Given the description of an element on the screen output the (x, y) to click on. 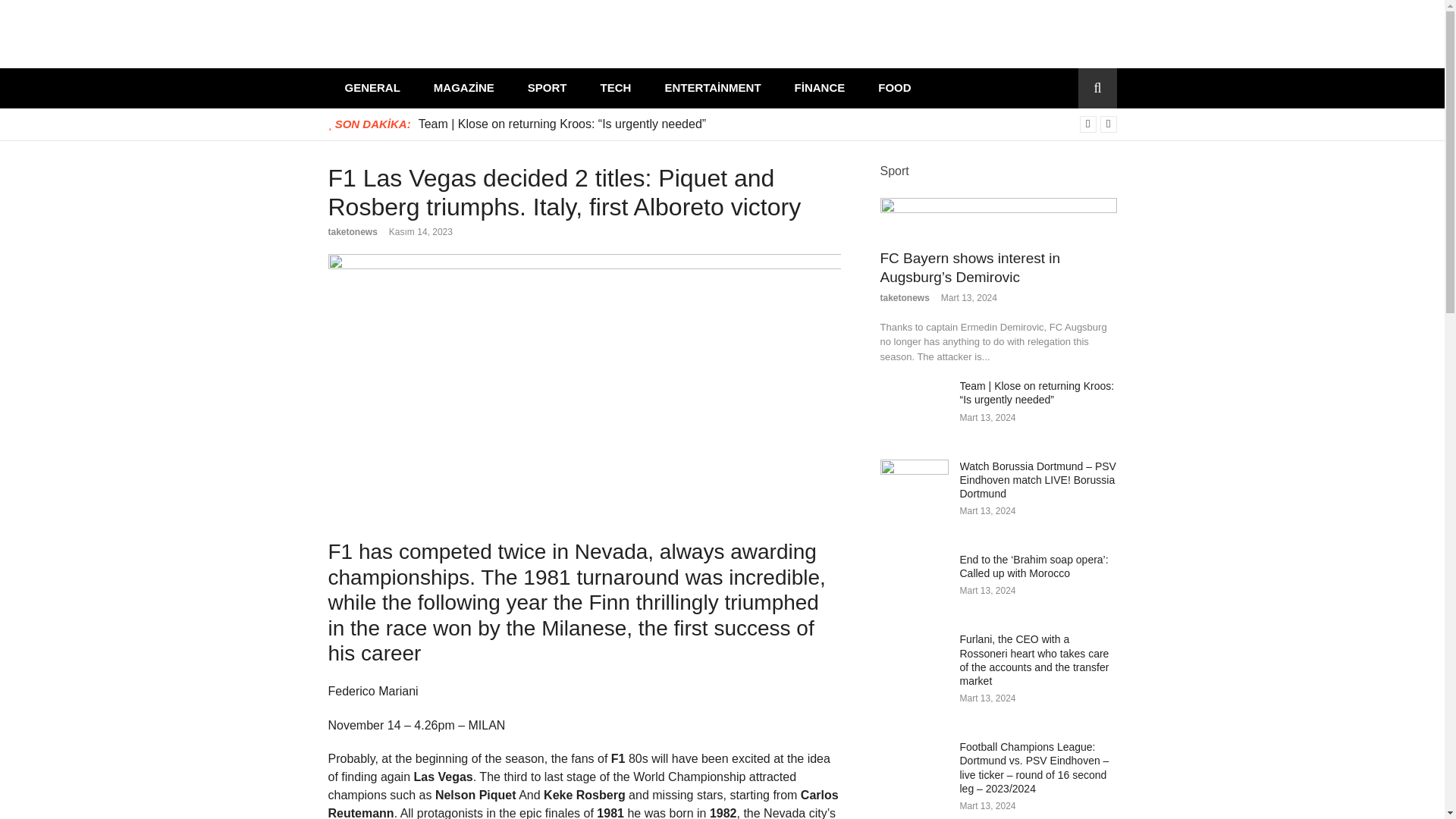
FINANCE (819, 87)
Sport (893, 169)
taketonews (352, 231)
SPORT (547, 87)
ENTERTAINMENT (712, 87)
FOOD (894, 87)
GENERAL (371, 87)
TECH (615, 87)
MAGAZINE (463, 87)
